Given the description of an element on the screen output the (x, y) to click on. 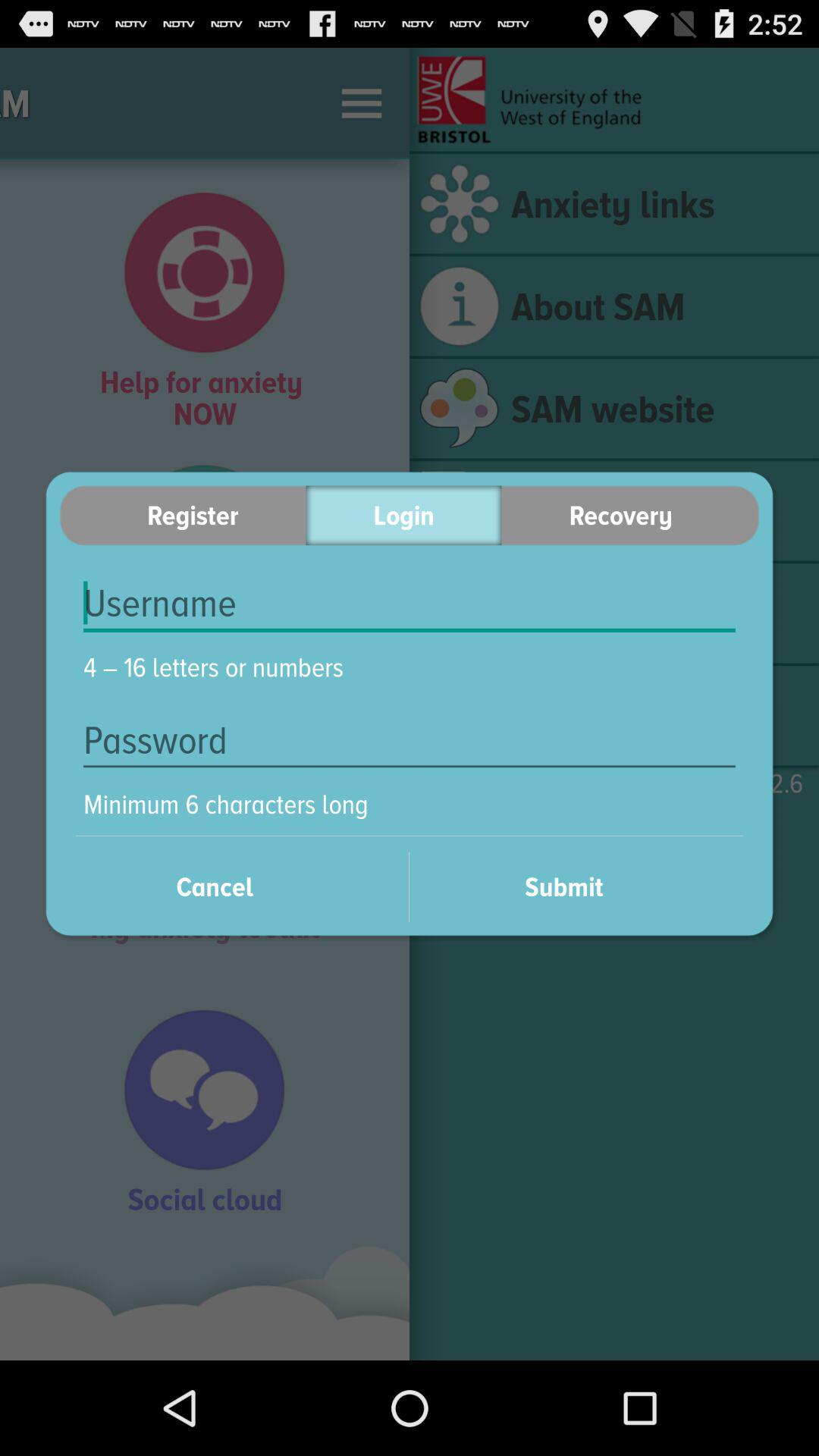
click item above the 4 16 letters (409, 603)
